Given the description of an element on the screen output the (x, y) to click on. 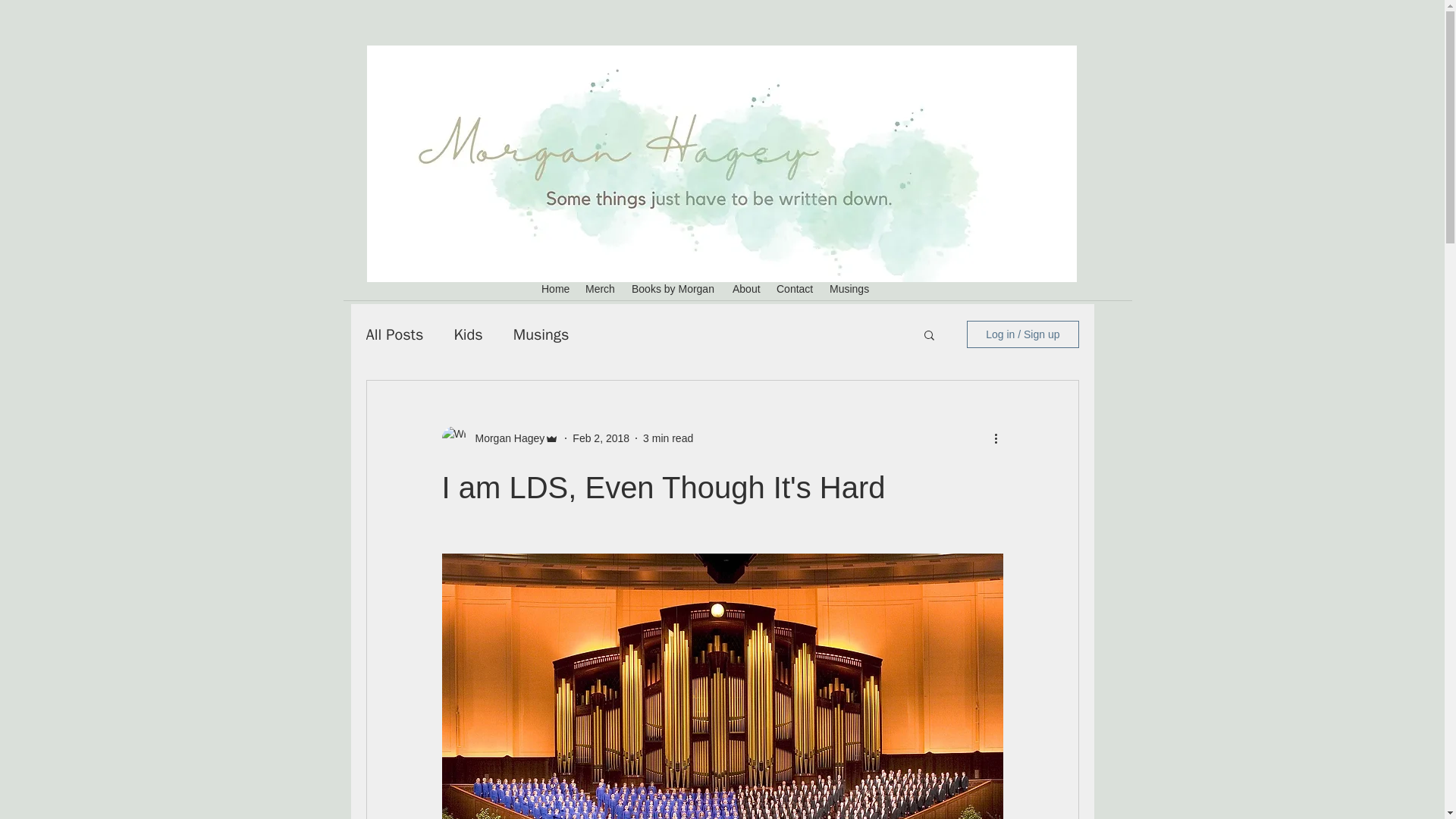
Kids (466, 334)
Morgan Hagey (504, 438)
3 min read (668, 438)
Home (556, 288)
Musings (541, 334)
Books by Morgan (674, 288)
Contact (795, 288)
Feb 2, 2018 (600, 438)
Merch (601, 288)
All Posts (394, 334)
About (746, 288)
Musings (849, 288)
